Given the description of an element on the screen output the (x, y) to click on. 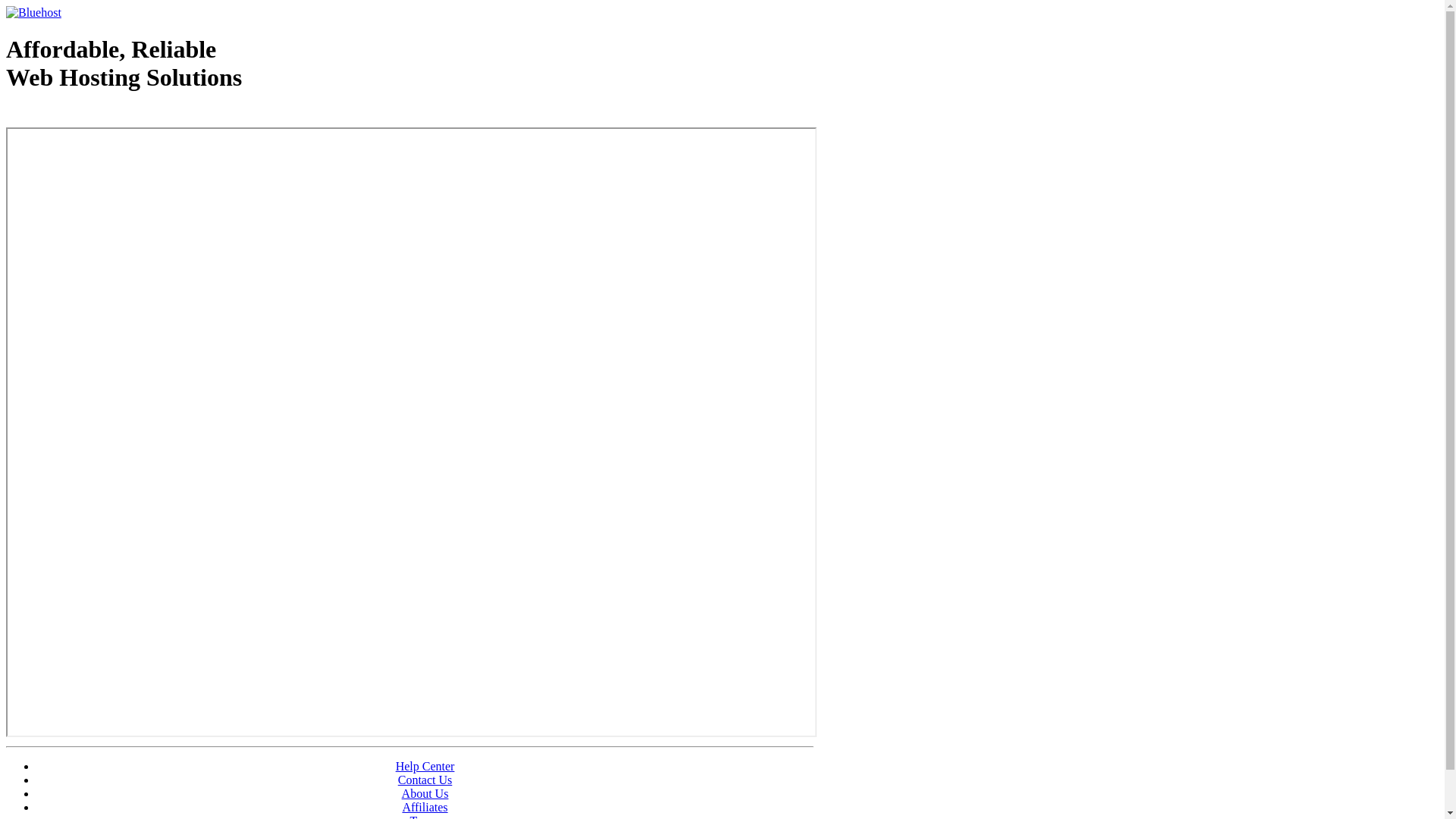
Help Center Element type: text (425, 765)
Web Hosting - courtesy of www.bluehost.com Element type: text (94, 115)
About Us Element type: text (424, 793)
Affiliates Element type: text (424, 806)
Contact Us Element type: text (425, 779)
